Given the description of an element on the screen output the (x, y) to click on. 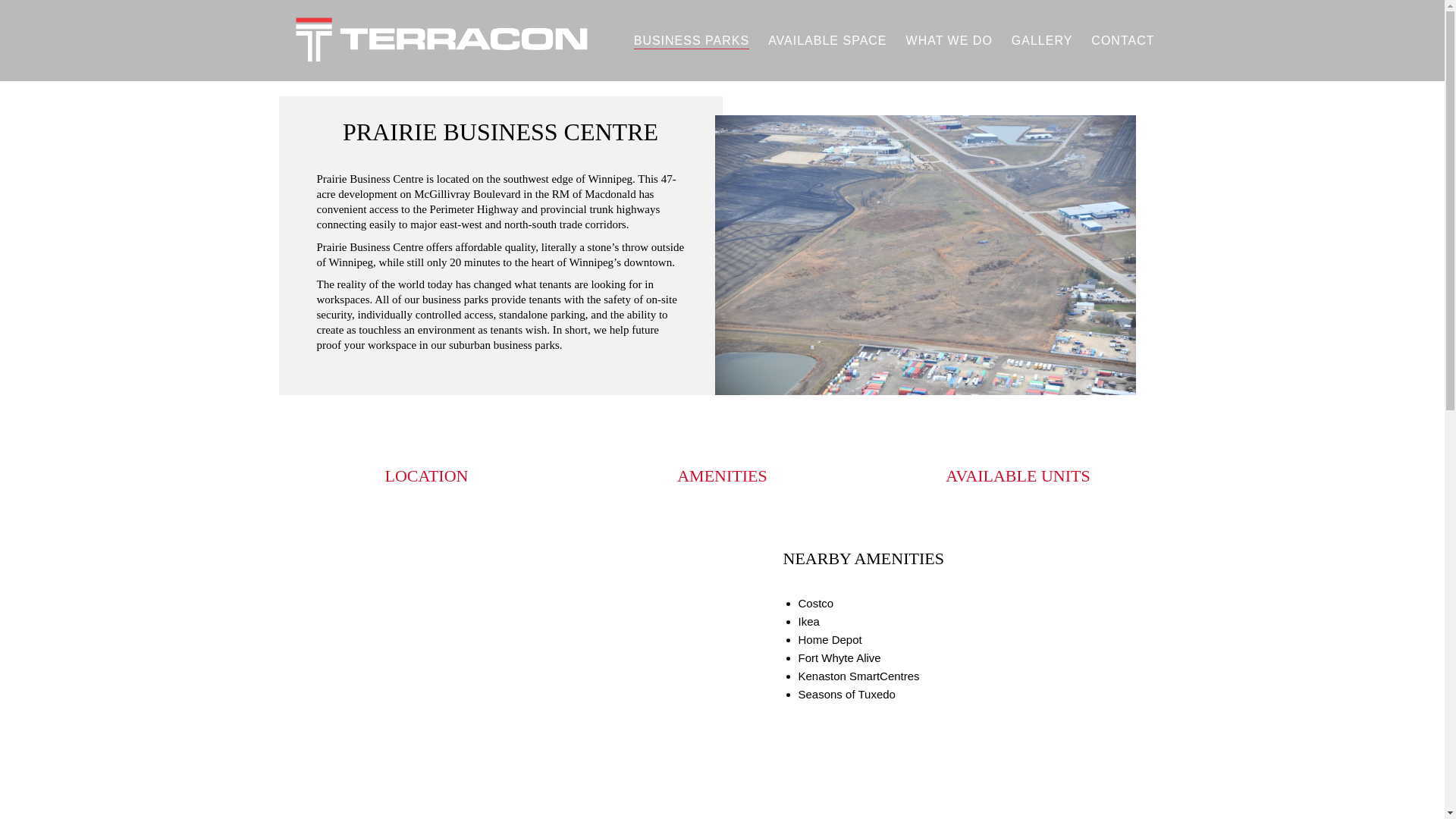
LOCATION (425, 475)
AMENITIES (722, 475)
BUSINESS PARKS (691, 40)
AVAILABLE UNITS (1016, 475)
CONTACT (1122, 40)
AVAILABLE SPACE (827, 40)
WHAT WE DO (948, 40)
GALLERY (1042, 40)
